Given the description of an element on the screen output the (x, y) to click on. 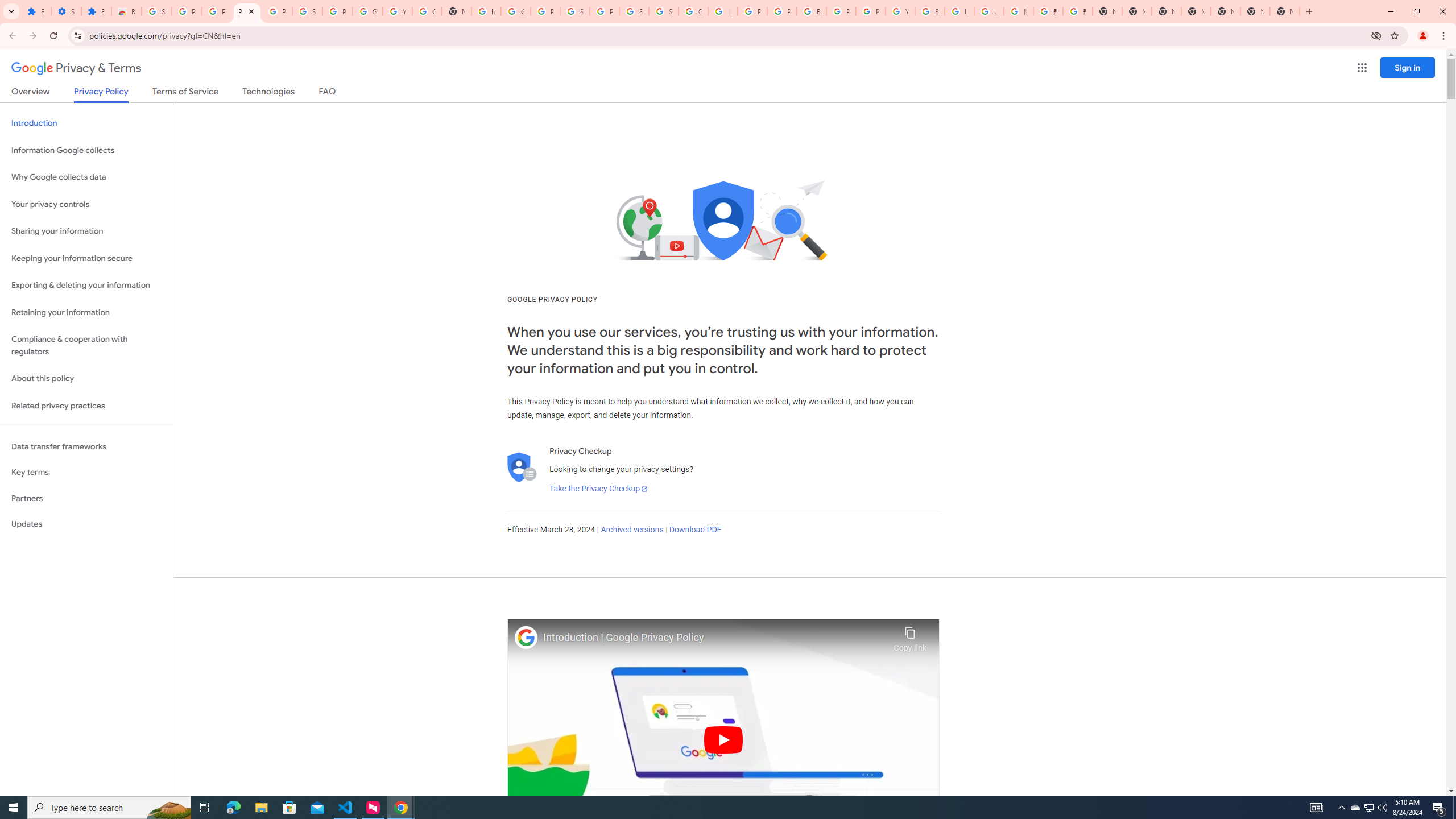
Play (723, 739)
Privacy Help Center - Policies Help (781, 11)
About this policy (86, 379)
Data transfer frameworks (86, 446)
Sign in - Google Accounts (633, 11)
